Given the description of an element on the screen output the (x, y) to click on. 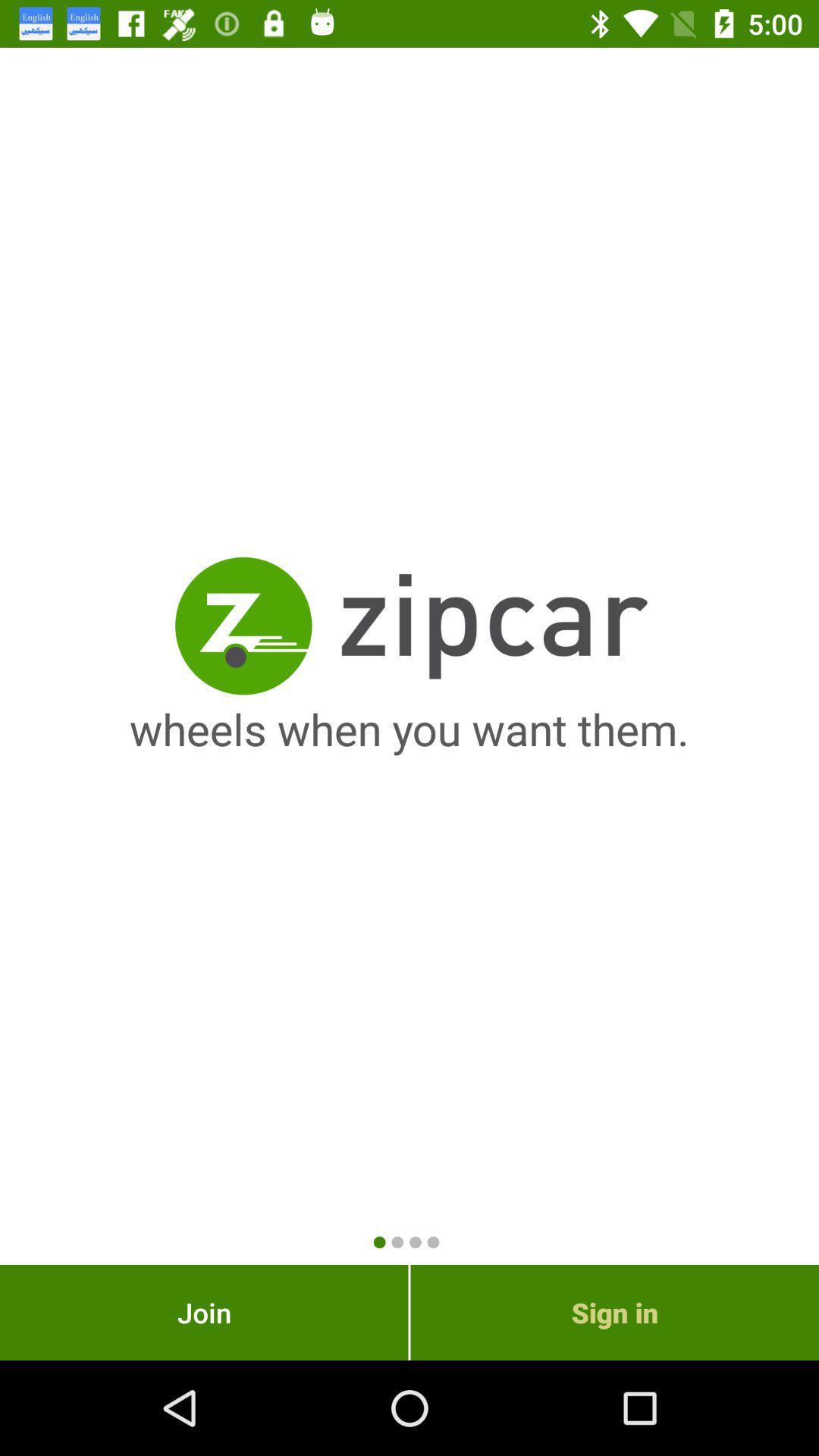
press the join item (204, 1312)
